Given the description of an element on the screen output the (x, y) to click on. 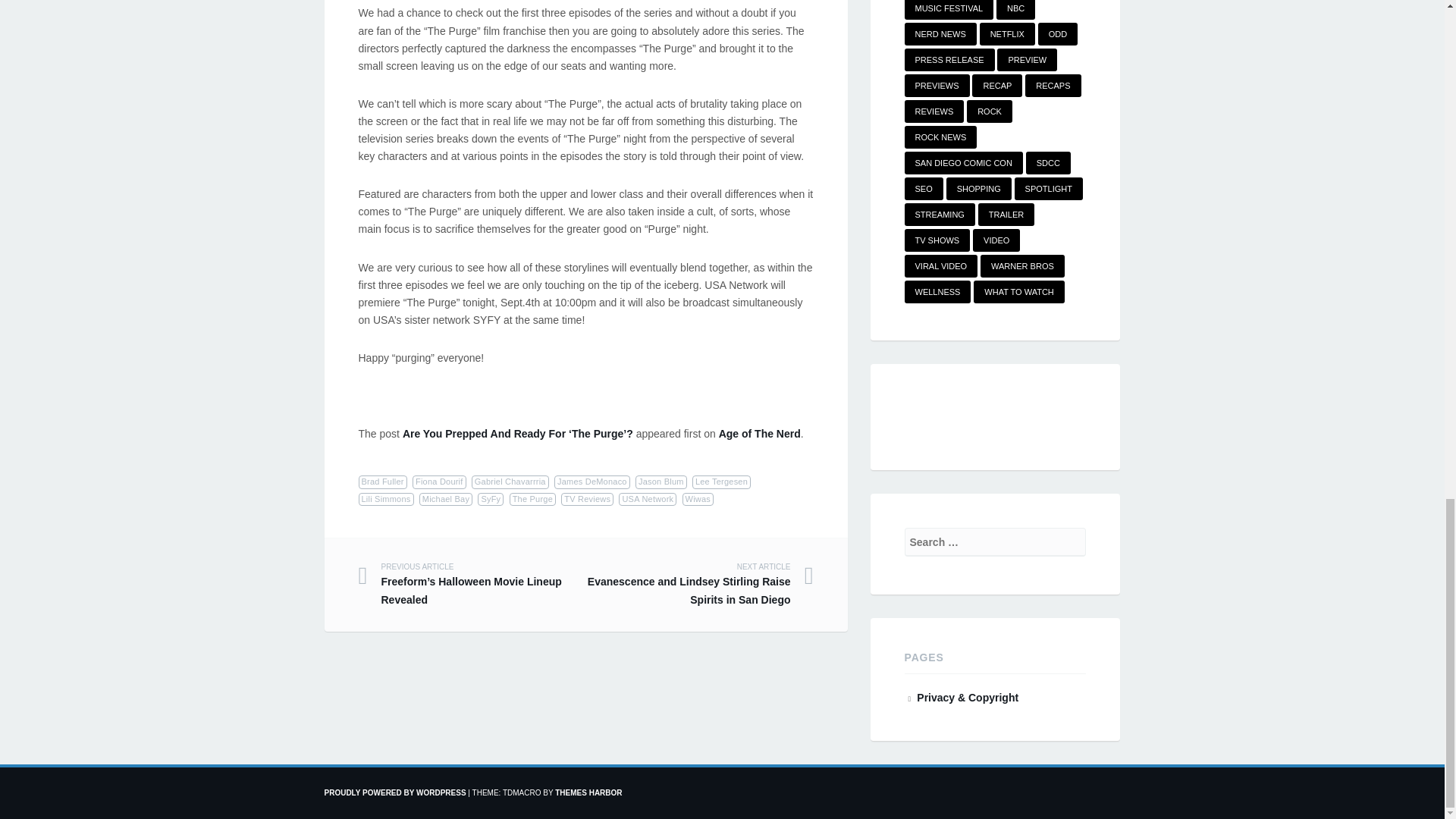
Fiona Dourif (438, 481)
TV Reviews (586, 499)
Michael Bay (445, 499)
SyFy (490, 499)
USA Network (647, 499)
Brad Fuller (382, 481)
Age of The Nerd (759, 433)
The Purge (532, 499)
Jason Blum (660, 481)
James DeMonaco (592, 481)
Lee Tergesen (722, 481)
Gabriel Chavarrria (509, 481)
Lili Simmons (385, 499)
Wiwas (698, 499)
